Given the description of an element on the screen output the (x, y) to click on. 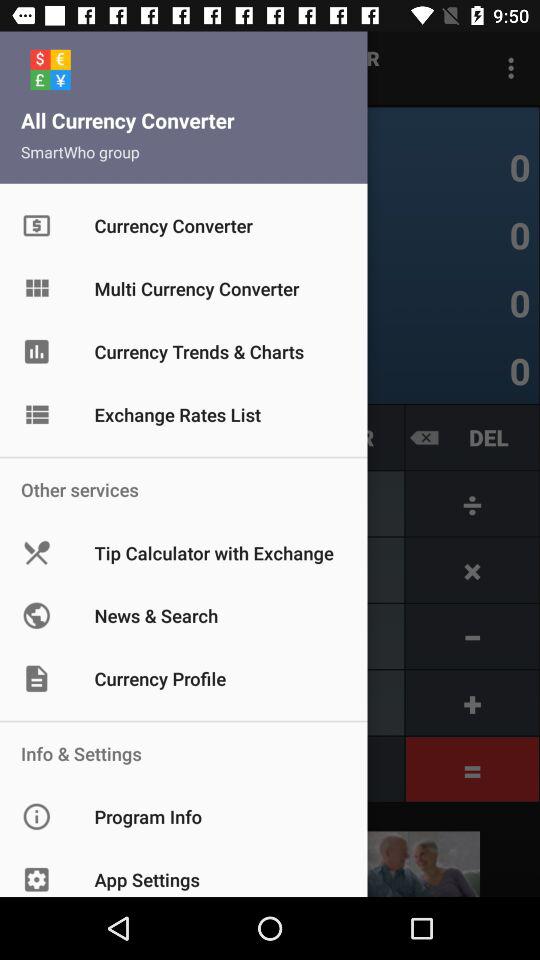
select other services (67, 503)
